Given the description of an element on the screen output the (x, y) to click on. 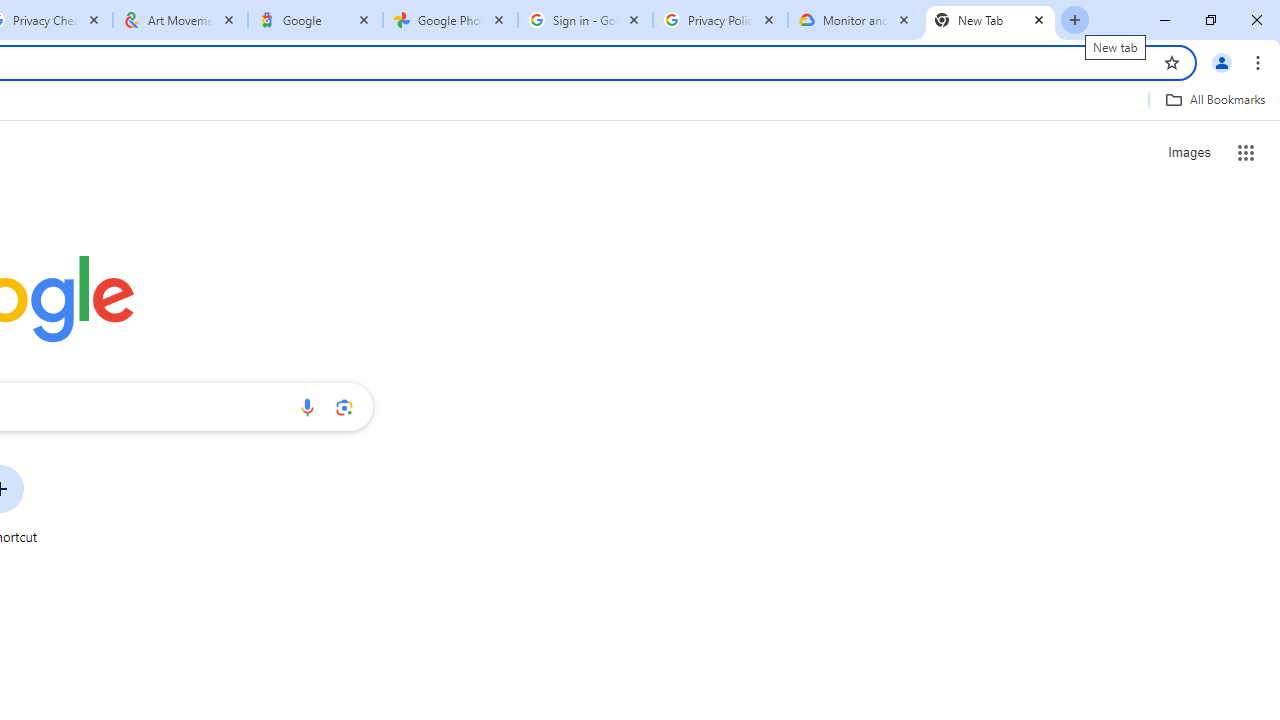
Google (315, 20)
